Given the description of an element on the screen output the (x, y) to click on. 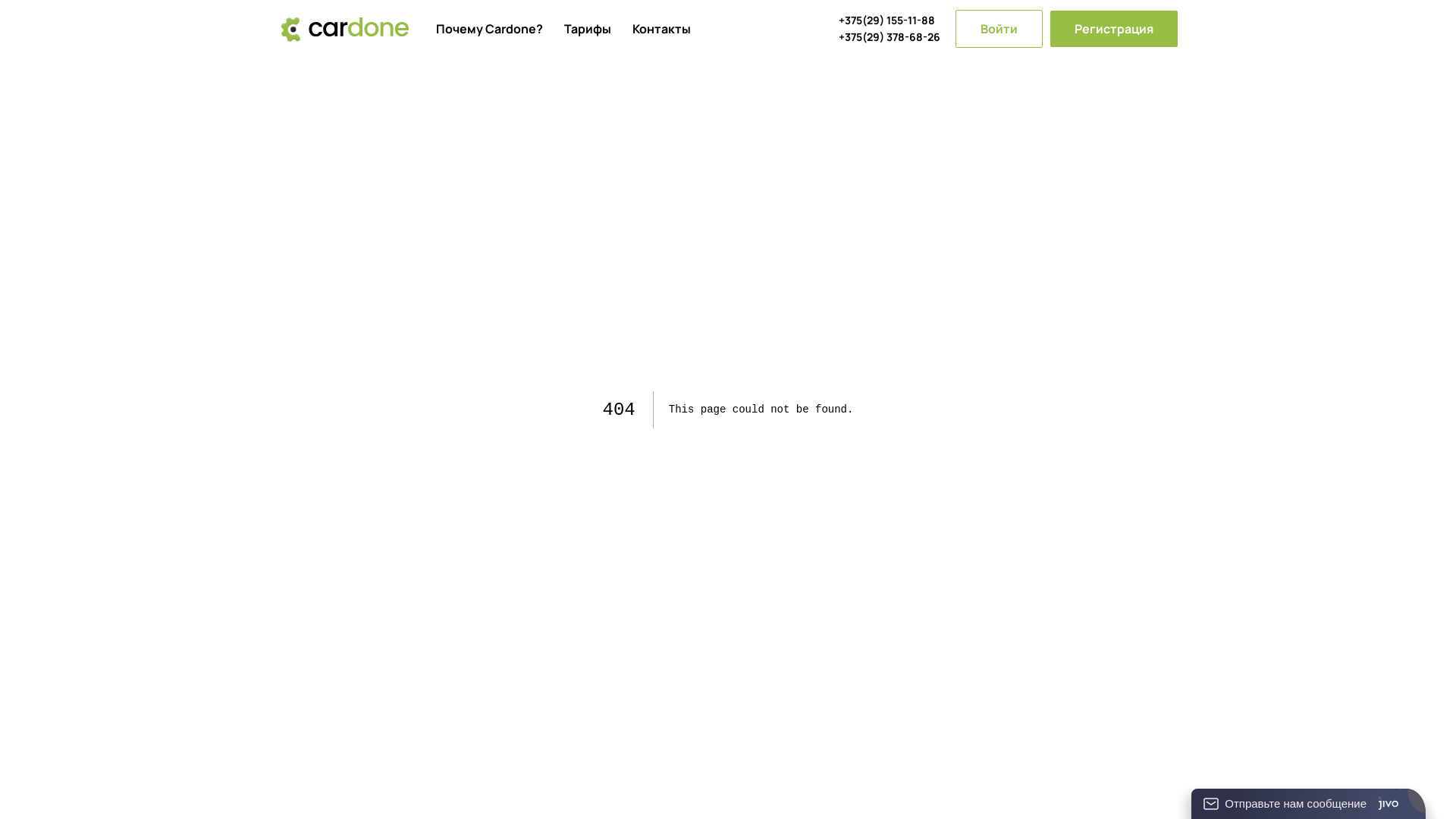
+375(29) 378-68-26 Element type: text (889, 36)
+375(29) 155-11-88 Element type: text (889, 20)
